Given the description of an element on the screen output the (x, y) to click on. 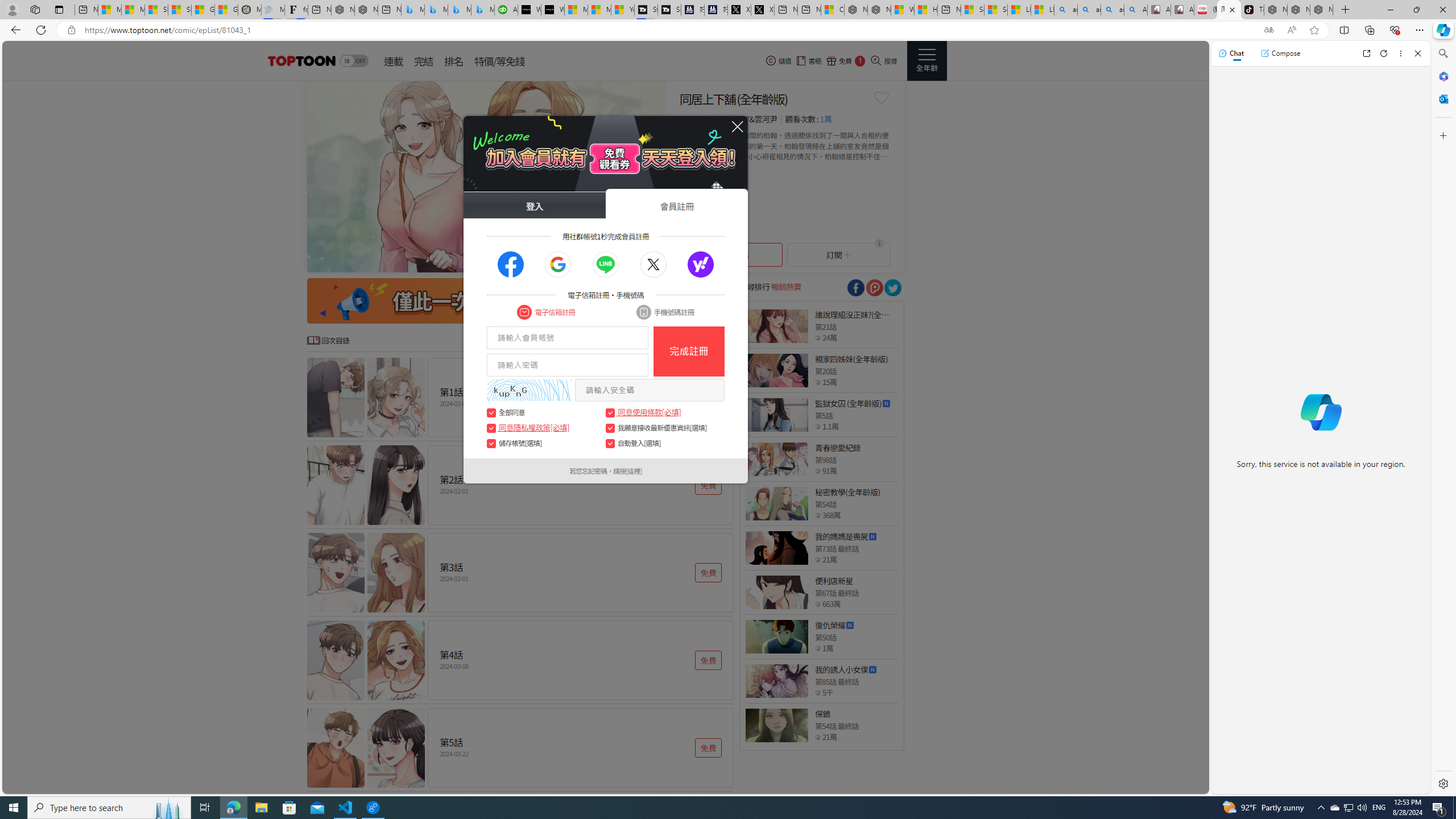
Browser essentials (1394, 29)
Compose (1280, 52)
Wildlife - MSN (902, 9)
Outlook (1442, 98)
Class: epicon_starpoint (818, 736)
Chat (1231, 52)
Back (13, 29)
Gilma and Hector both pose tropical trouble for Hawaii (226, 9)
